Given the description of an element on the screen output the (x, y) to click on. 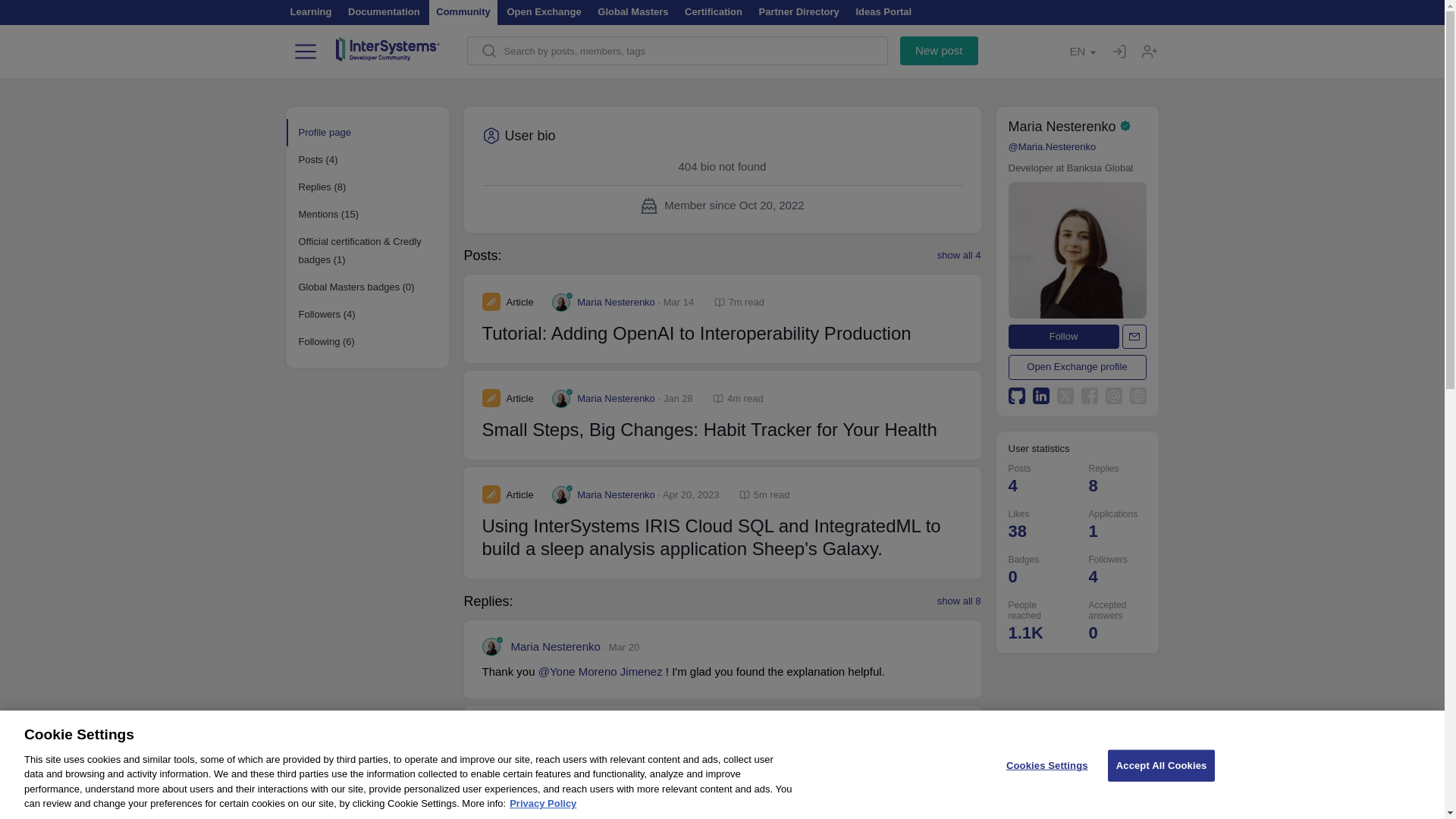
Documentation (383, 9)
Partner Directory (798, 9)
Global Masters (633, 9)
Learning (313, 9)
Ideas Portal (883, 9)
Open Exchange (543, 9)
Certification (713, 9)
